Given the description of an element on the screen output the (x, y) to click on. 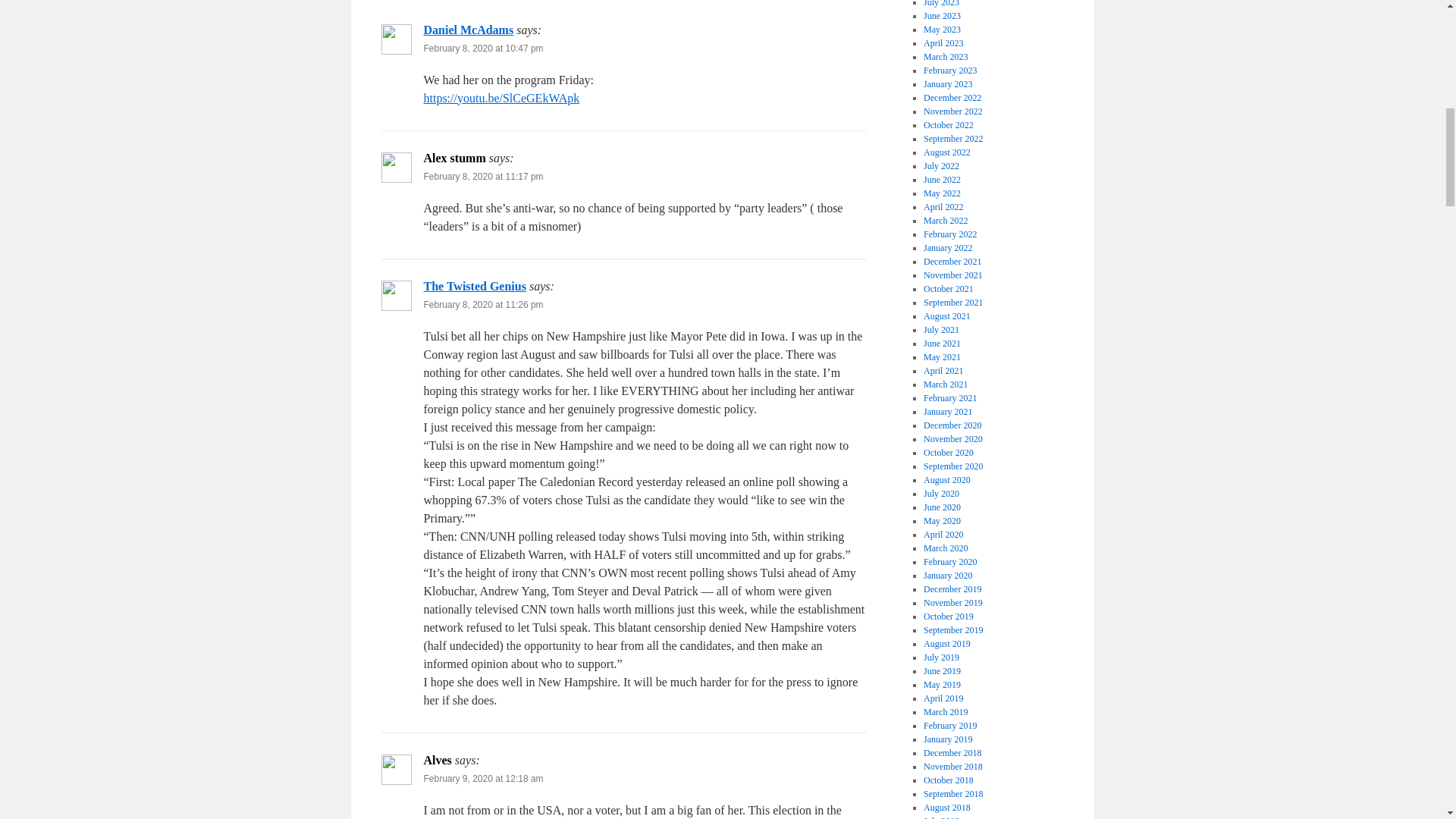
February 8, 2020 at 10:47 pm (483, 48)
Daniel McAdams (468, 29)
February 8, 2020 at 11:26 pm (483, 304)
February 9, 2020 at 12:18 am (483, 778)
February 8, 2020 at 11:17 pm (483, 176)
The Twisted Genius (474, 286)
